Given the description of an element on the screen output the (x, y) to click on. 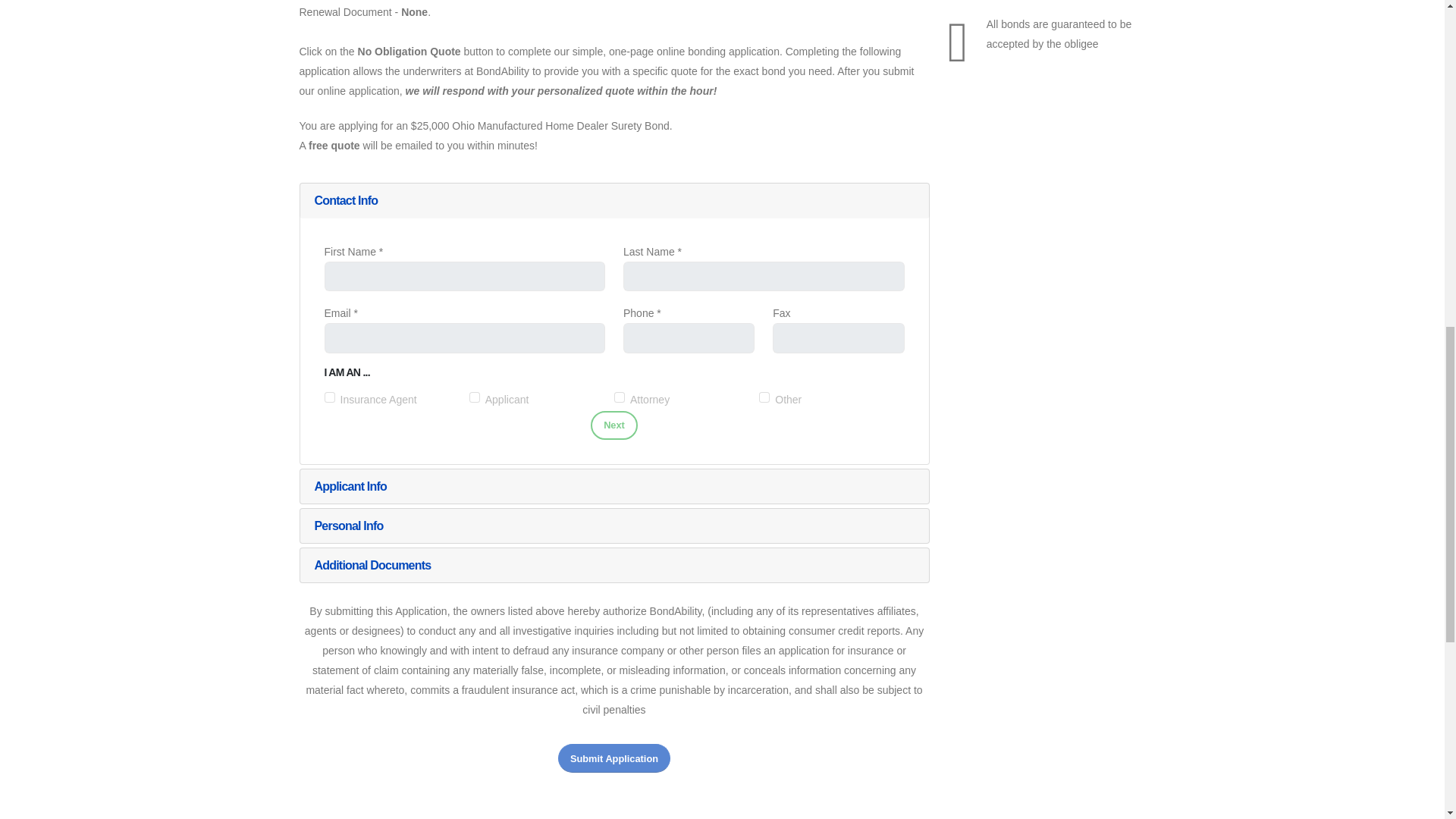
Yes (764, 397)
Submit Application (613, 758)
Applicant Info (613, 486)
Yes (329, 397)
Contact Info (613, 200)
Additional Documents (613, 565)
Next (614, 425)
Personal Info (613, 525)
Yes (474, 397)
Yes (619, 397)
